Given the description of an element on the screen output the (x, y) to click on. 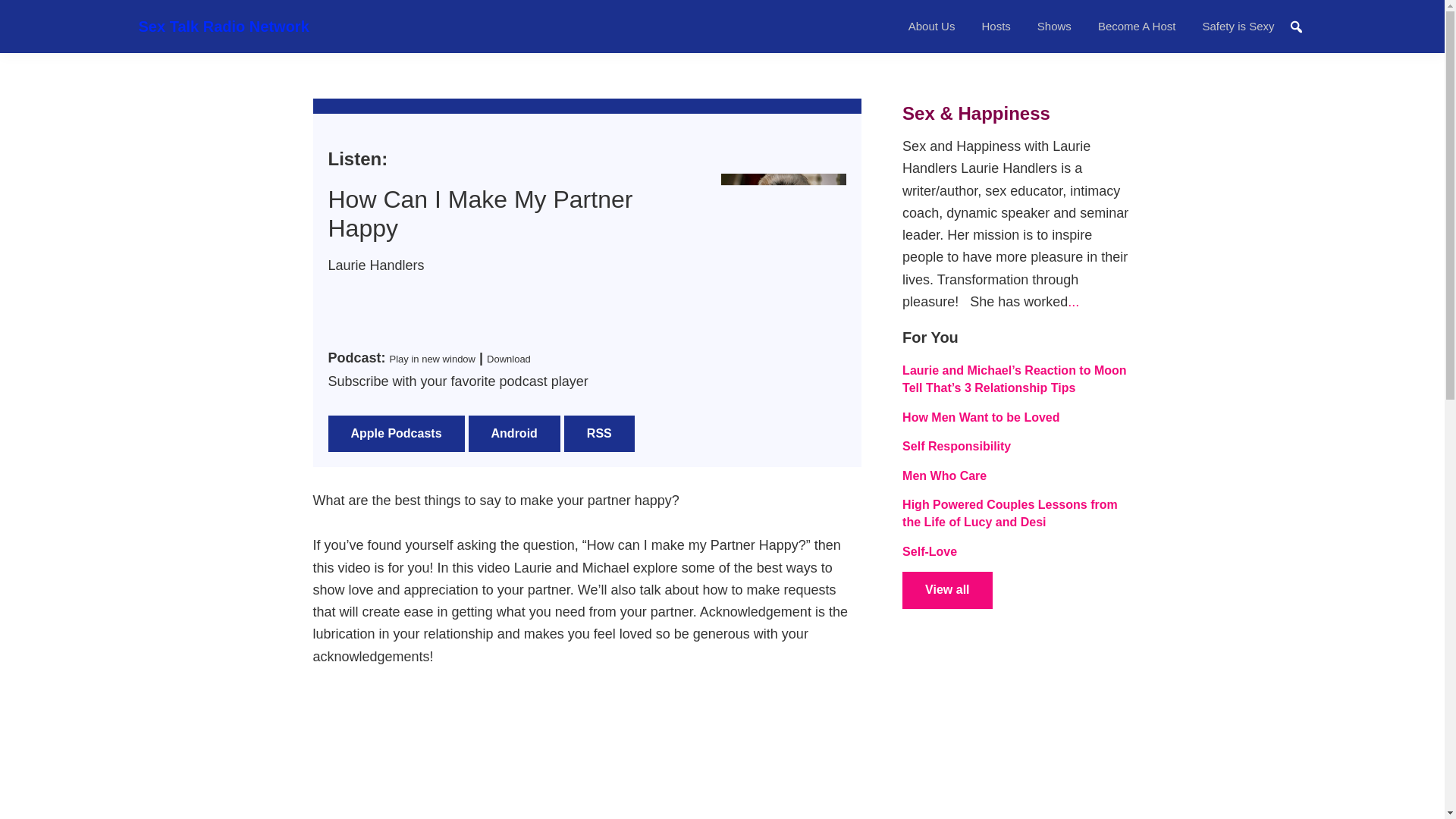
Android (514, 433)
Download (508, 358)
High Powered Couples Lessons from the Life of Lucy and Desi (1010, 512)
Self-Love (929, 551)
Play in new window (433, 358)
High Powered Couples Lessons from the Life of Lucy and Desi (1010, 512)
Shows (1054, 25)
How Men Want to be Loved (980, 417)
Hosts (995, 25)
